Given the description of an element on the screen output the (x, y) to click on. 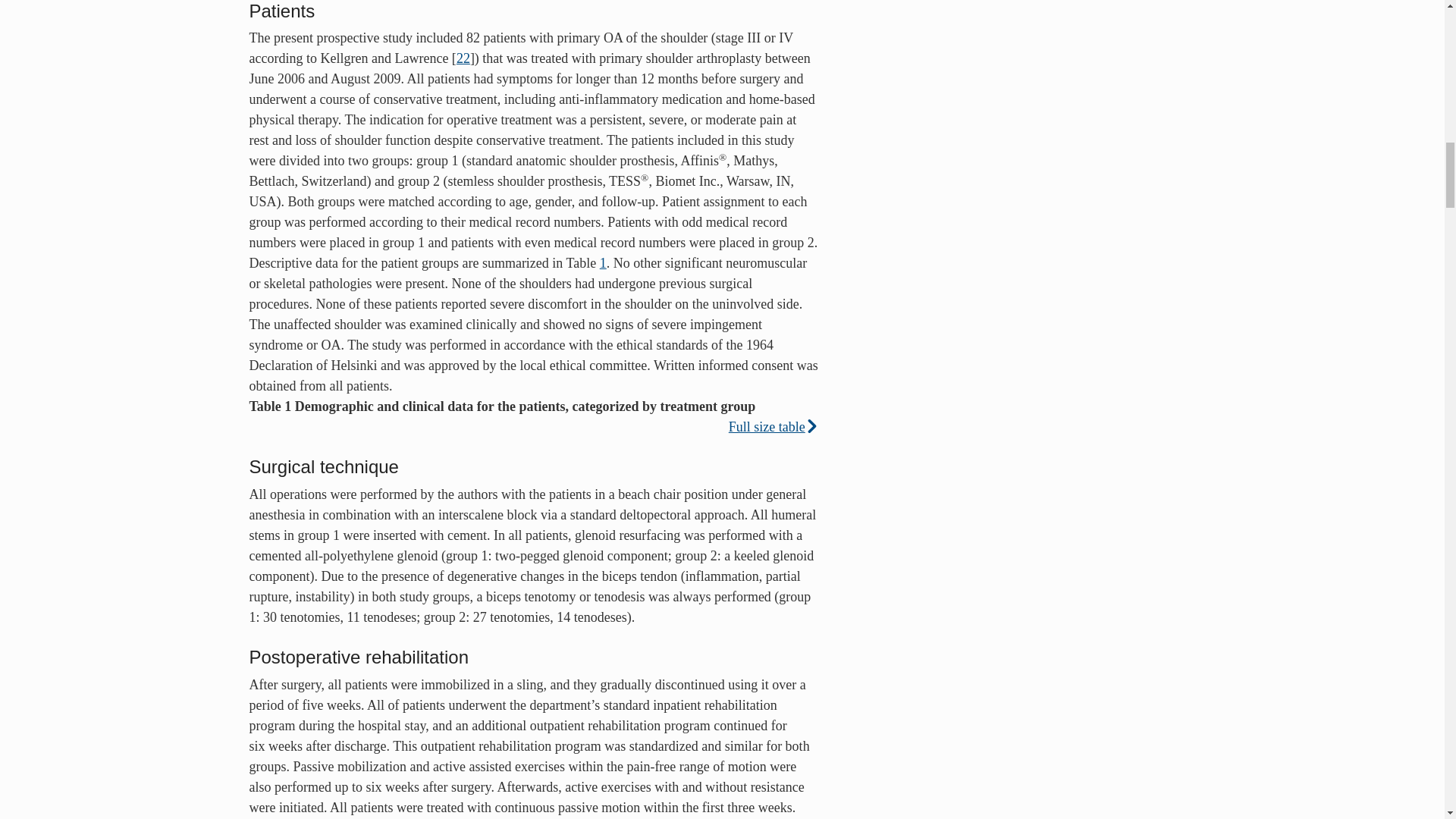
1 (603, 263)
Full size table (773, 426)
22 (463, 58)
